Given the description of an element on the screen output the (x, y) to click on. 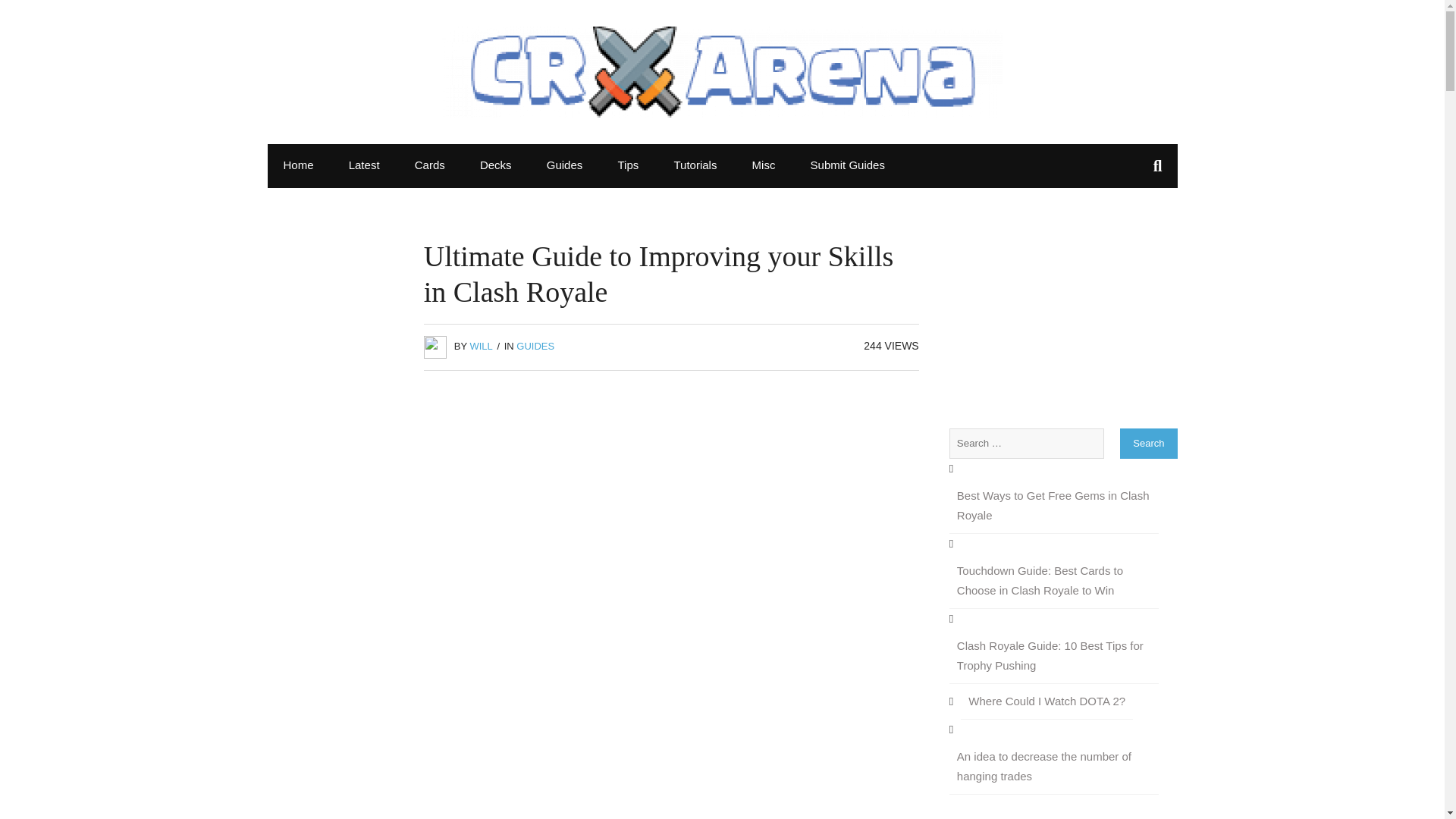
Search (1147, 443)
Best Ways to Get Free Gems in Clash Royale (1053, 505)
An idea to decrease the number of hanging trades (1053, 766)
Search (28, 15)
Touchdown Guide: Best Cards to Choose in Clash Royale to Win (1053, 581)
Submit Guides (847, 165)
Advertisement (670, 717)
Submit Clash Royale Decks (847, 165)
Search (1147, 443)
Posts by Will (480, 346)
